Given the description of an element on the screen output the (x, y) to click on. 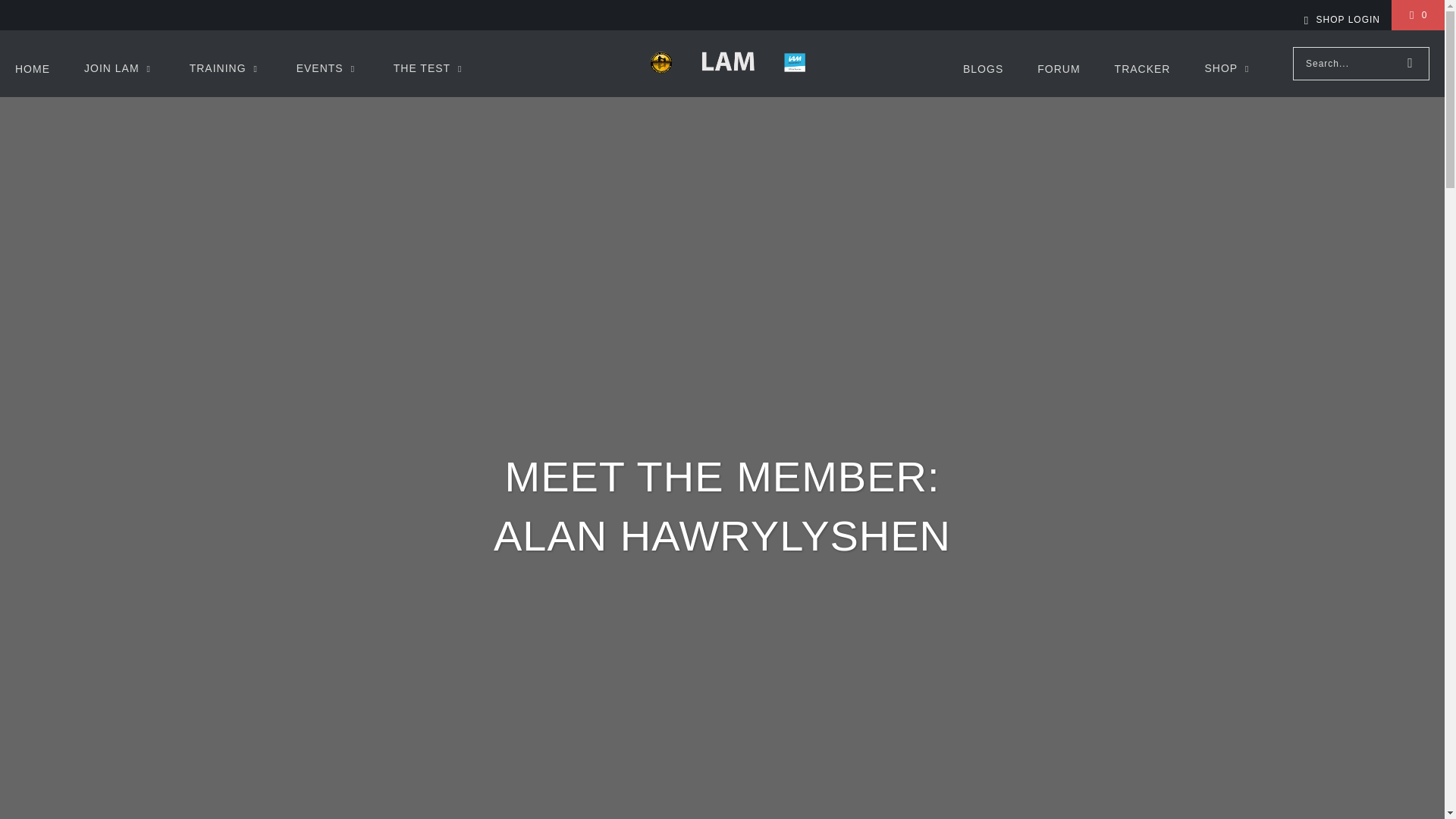
London Advanced Motorcyclists (727, 63)
My Account  (1339, 20)
